Given the description of an element on the screen output the (x, y) to click on. 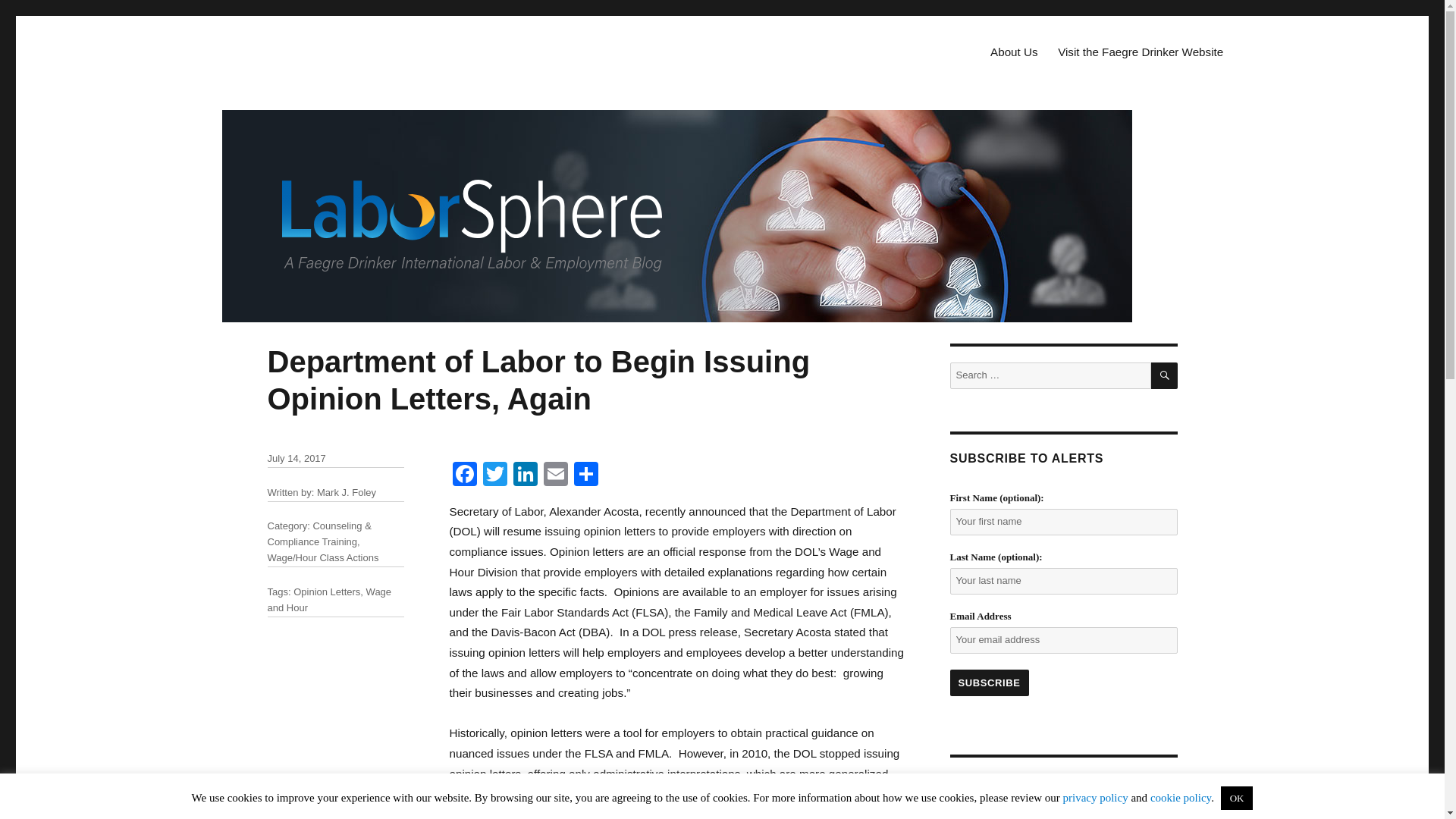
OK (1237, 797)
About Us (1013, 51)
Subscribe (988, 682)
privacy policy (1094, 797)
Share (584, 475)
Email (555, 475)
Facebook (463, 475)
Visit the Faegre Drinker Website (1140, 51)
Twitter (494, 475)
Wage and Hour (328, 599)
Mark J. Foley (346, 491)
SEARCH (1164, 375)
cookie policy (1180, 797)
Facebook (463, 475)
Twitter (494, 475)
